Given the description of an element on the screen output the (x, y) to click on. 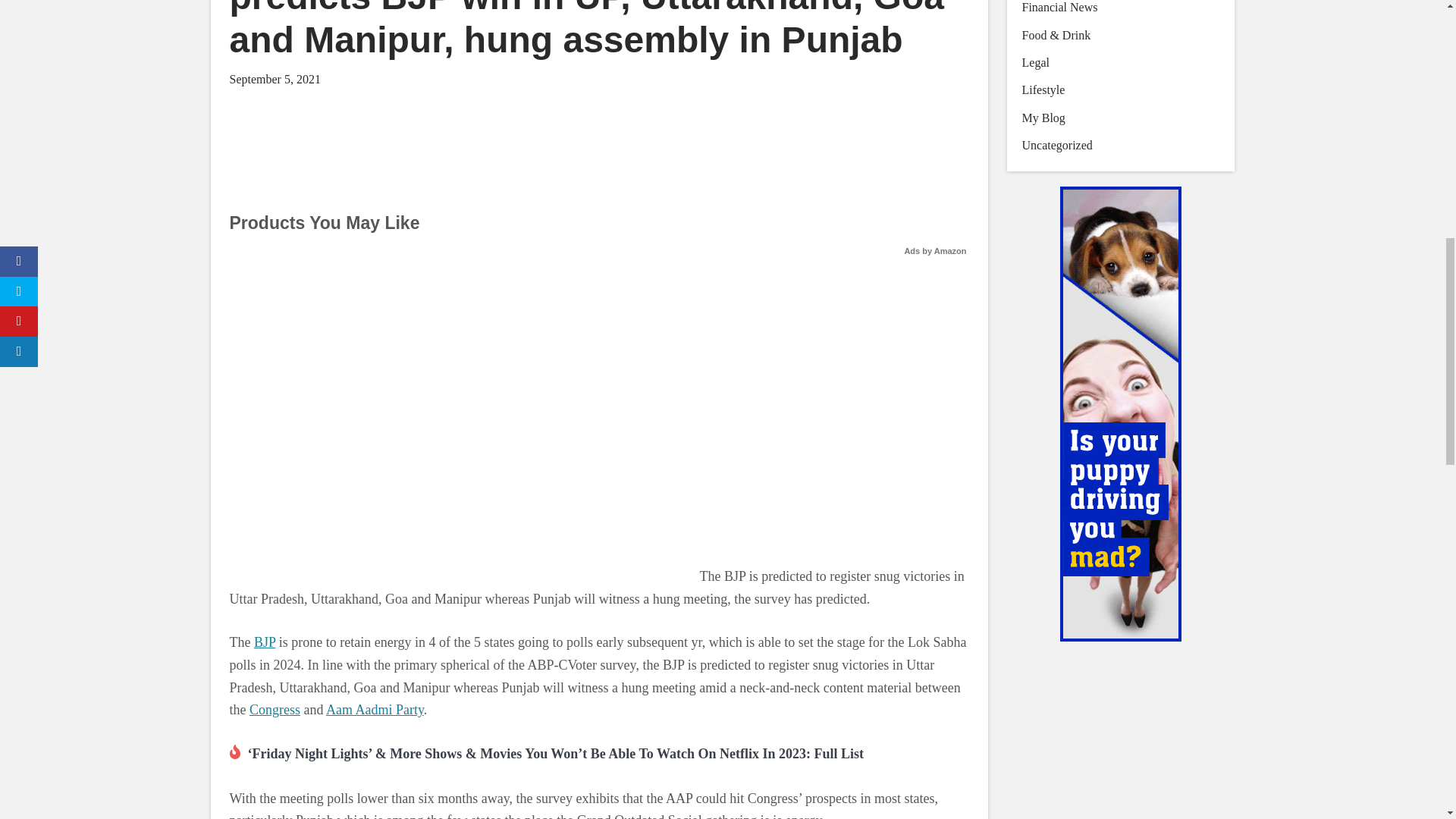
BJP (264, 642)
Aam Aadmi Party (374, 709)
Congress (273, 709)
Ads by Amazon (935, 250)
